Given the description of an element on the screen output the (x, y) to click on. 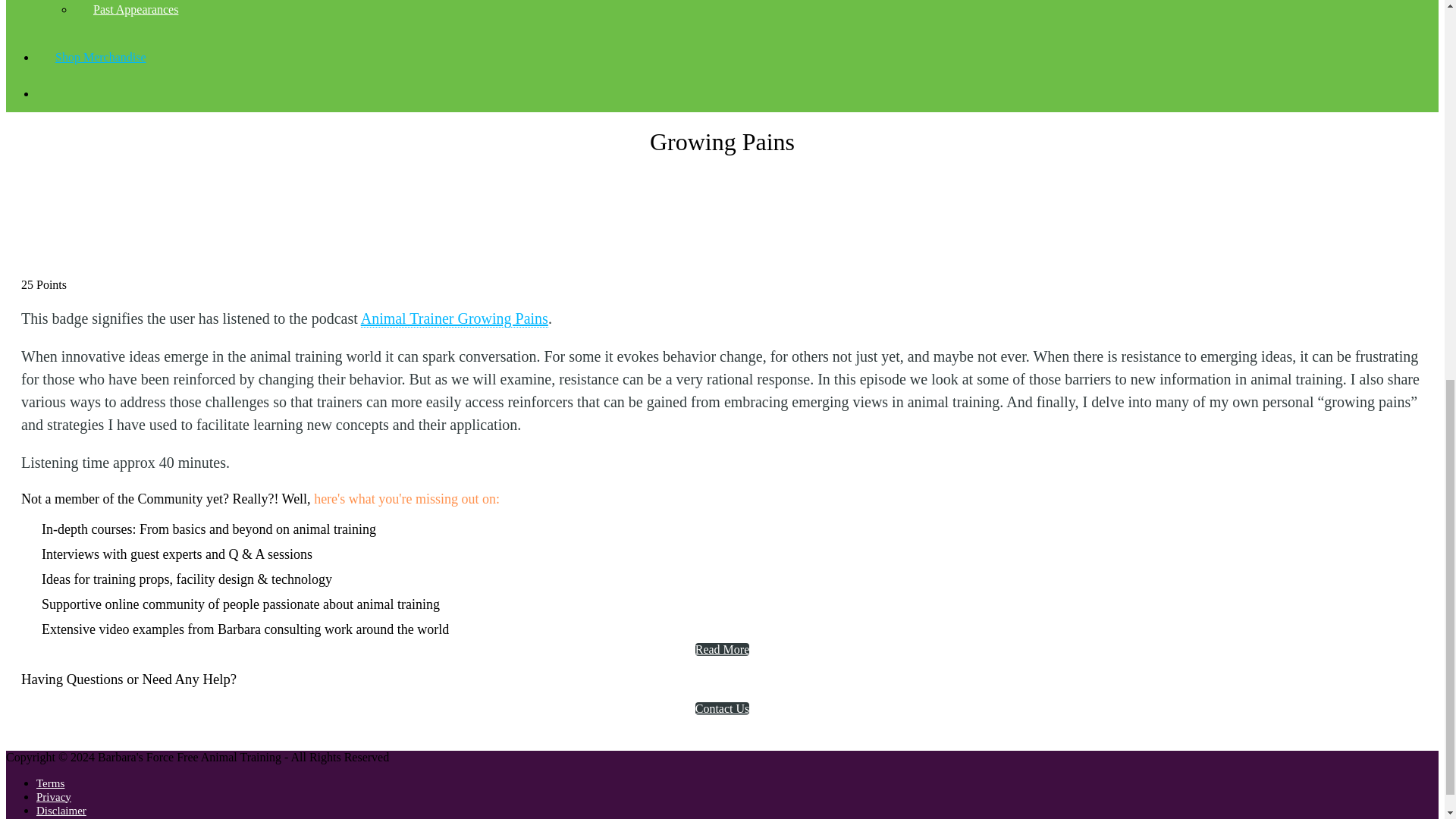
Contact Us (722, 707)
Disclaimer (60, 810)
Read More (722, 649)
Shop Merchandise (100, 56)
Terms (50, 783)
Past Appearances (135, 9)
Animal Trainer Growing Pains (454, 318)
Privacy (53, 797)
